Given the description of an element on the screen output the (x, y) to click on. 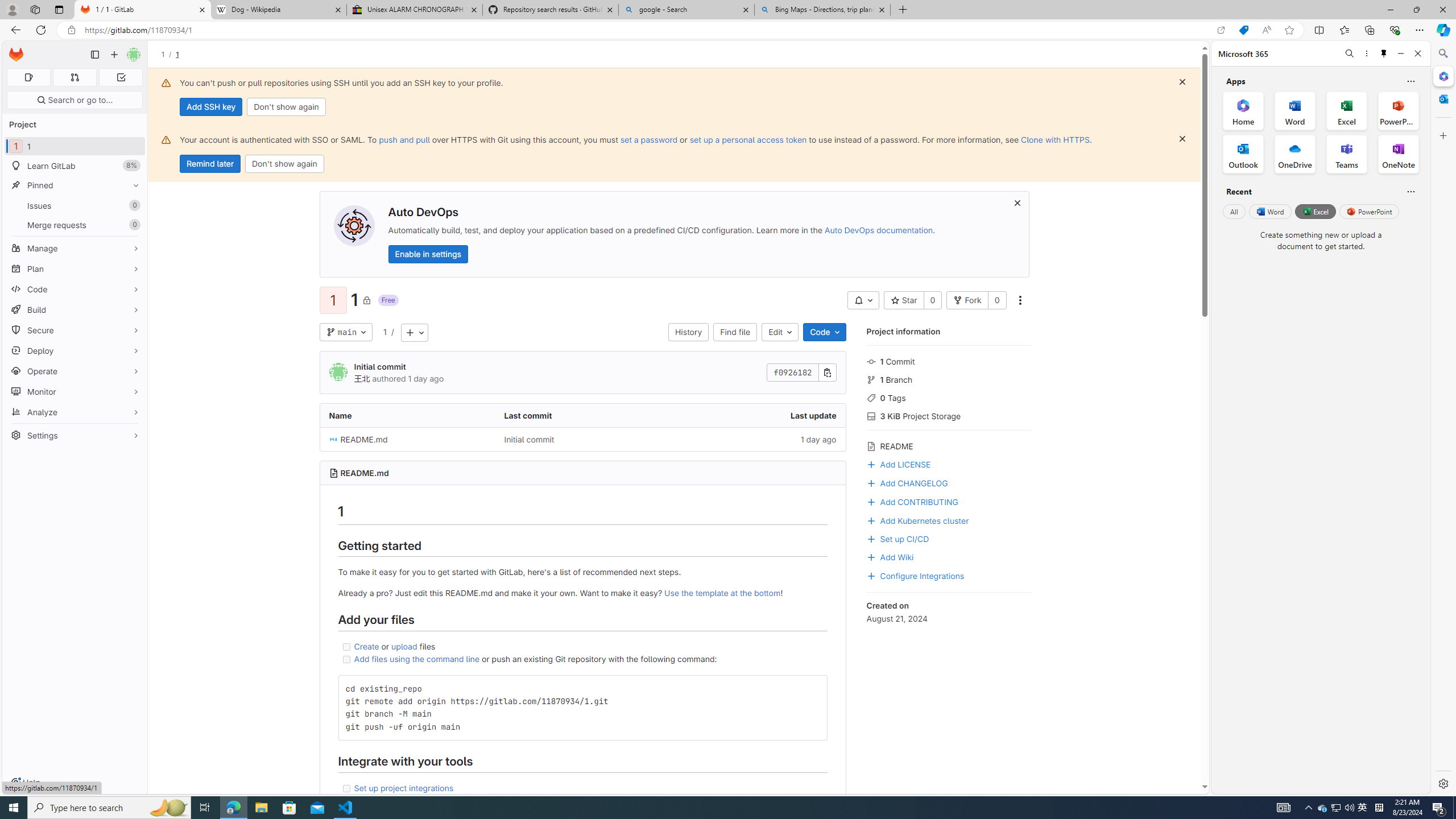
README.md (364, 473)
Add Wiki (948, 556)
set up a personal access token (747, 139)
0 Tags (948, 396)
Initial commit (583, 439)
Monitor (74, 391)
Operate (74, 370)
Analyze (74, 411)
Class: s16 gl-text-blue-500! gl-mr-3 (871, 501)
